Given the description of an element on the screen output the (x, y) to click on. 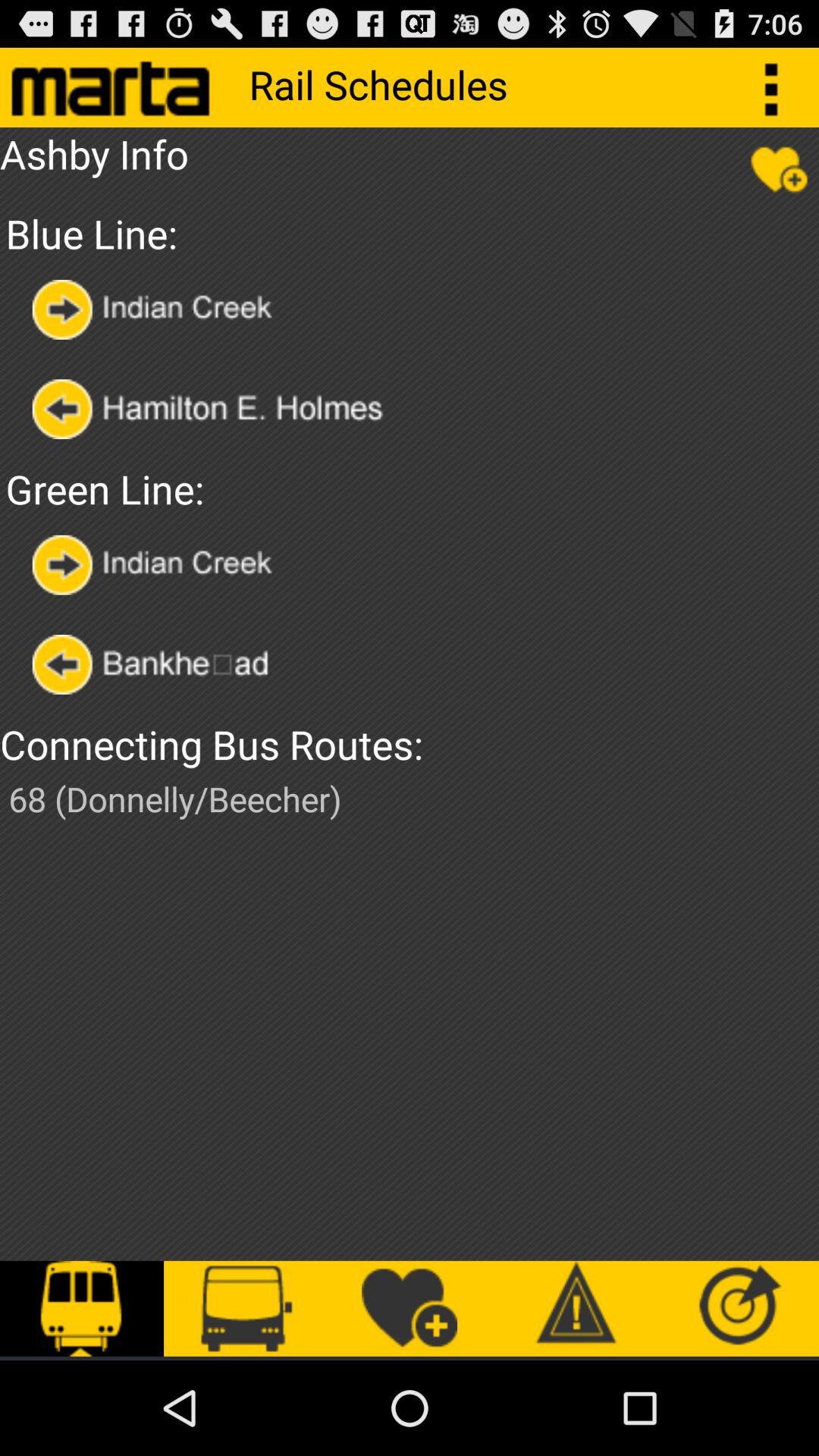
hamiliton e. holmes section (229, 408)
